Given the description of an element on the screen output the (x, y) to click on. 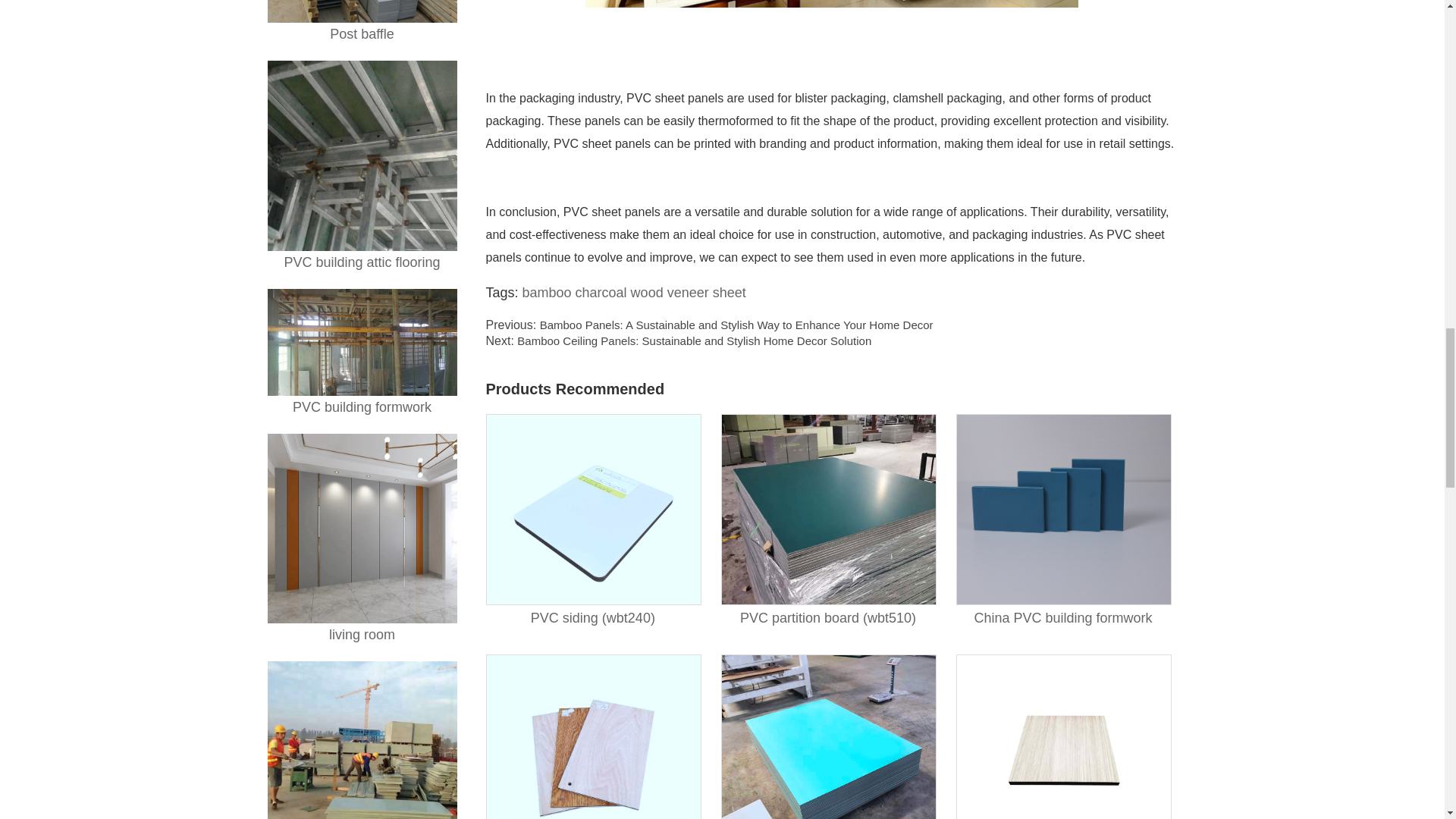
PVC building formwork (361, 353)
PVC pouring concrete formwork (361, 739)
Post baffle (361, 22)
Post baffle (361, 22)
living room (361, 540)
PVC building formwork (361, 353)
PVC building attic flooring (361, 166)
China PVC building formwork (1063, 522)
PVC building attic flooring (361, 166)
